Given the description of an element on the screen output the (x, y) to click on. 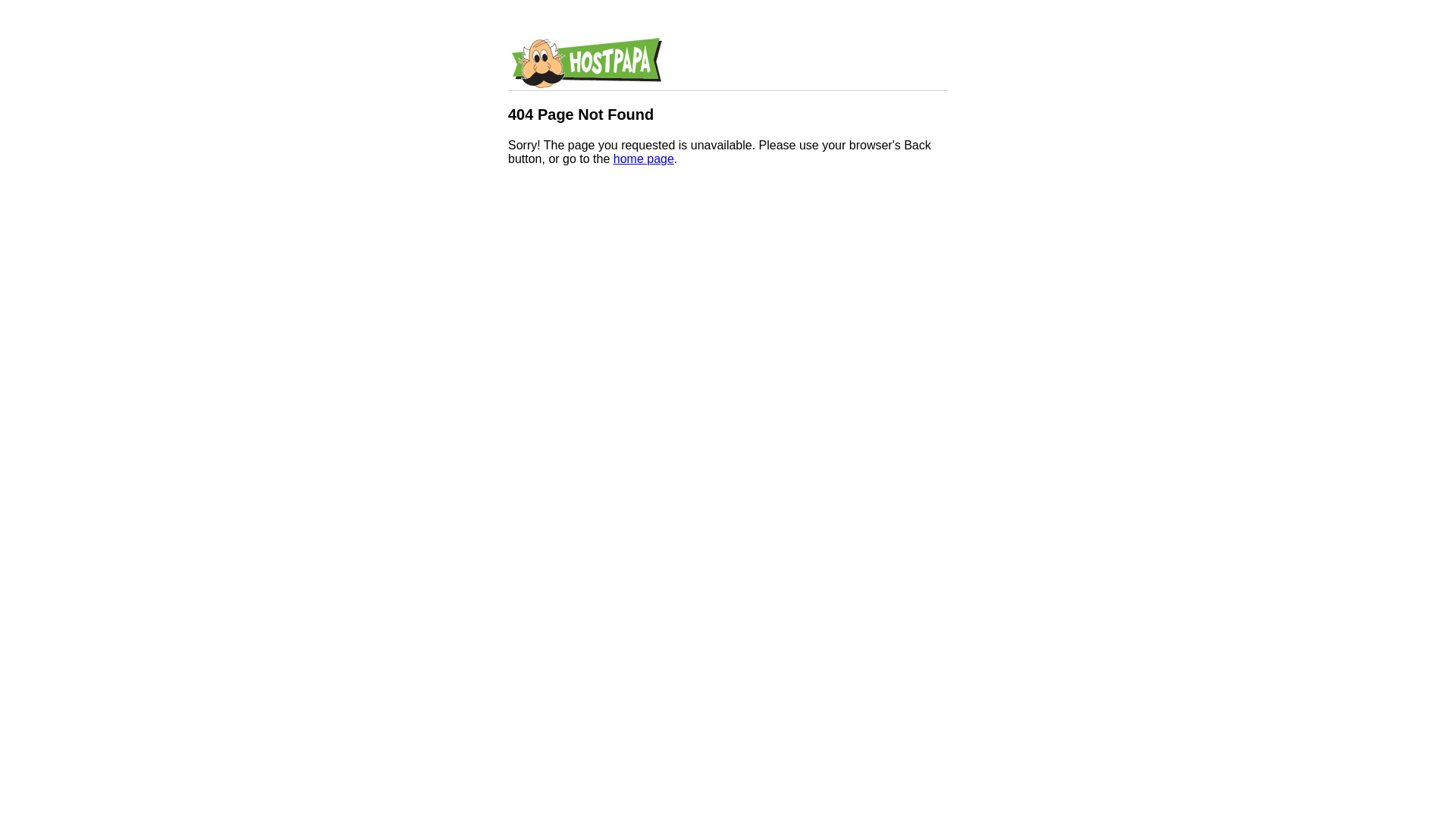
home page Element type: text (643, 158)
